Given the description of an element on the screen output the (x, y) to click on. 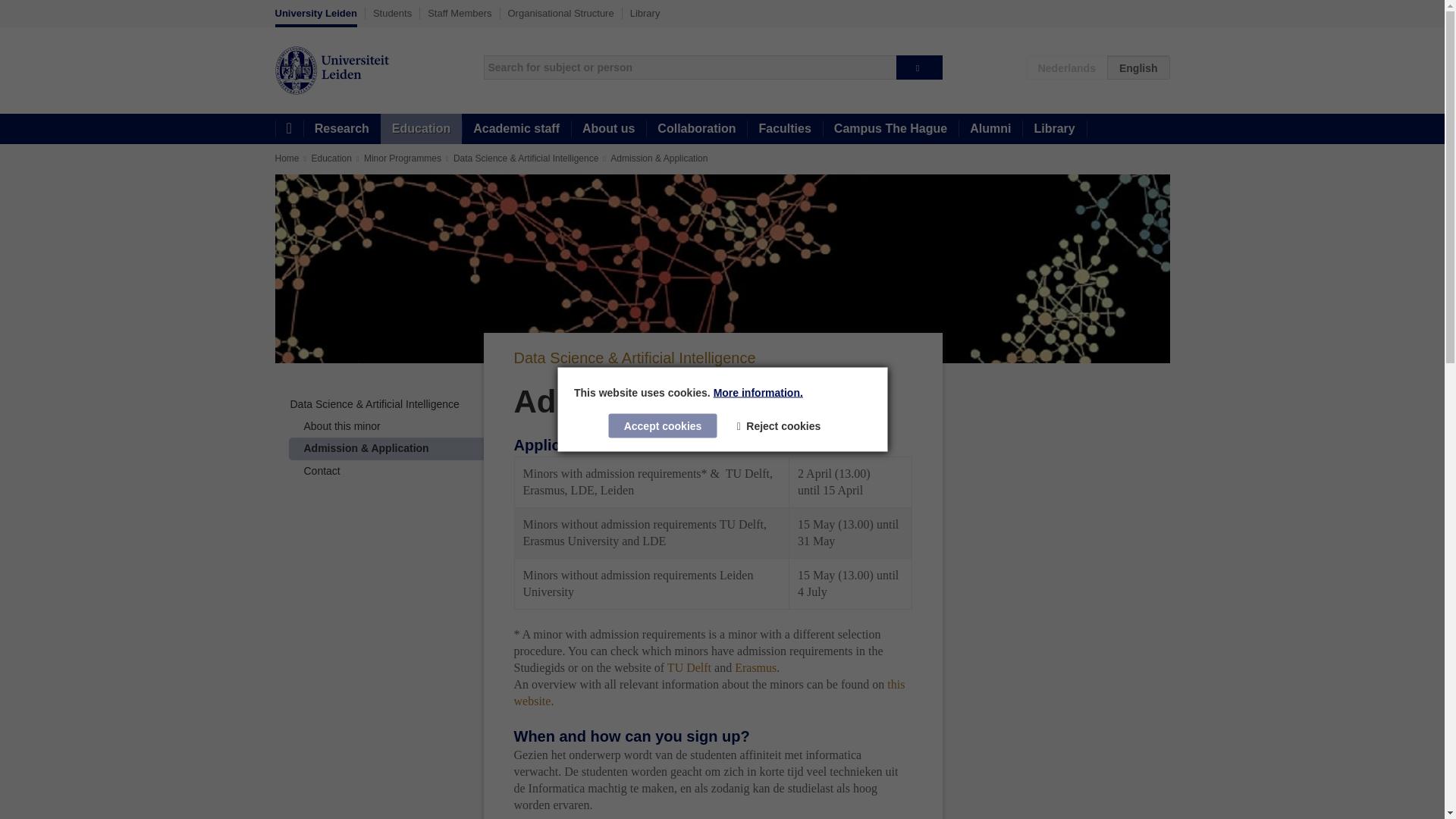
Research (341, 128)
Students (392, 13)
Contact (320, 470)
Contact (320, 470)
Organisational Structure (561, 13)
Search (919, 67)
Academic staff (515, 128)
Education (331, 158)
Collaboration (696, 128)
University Leiden (315, 17)
